Given the description of an element on the screen output the (x, y) to click on. 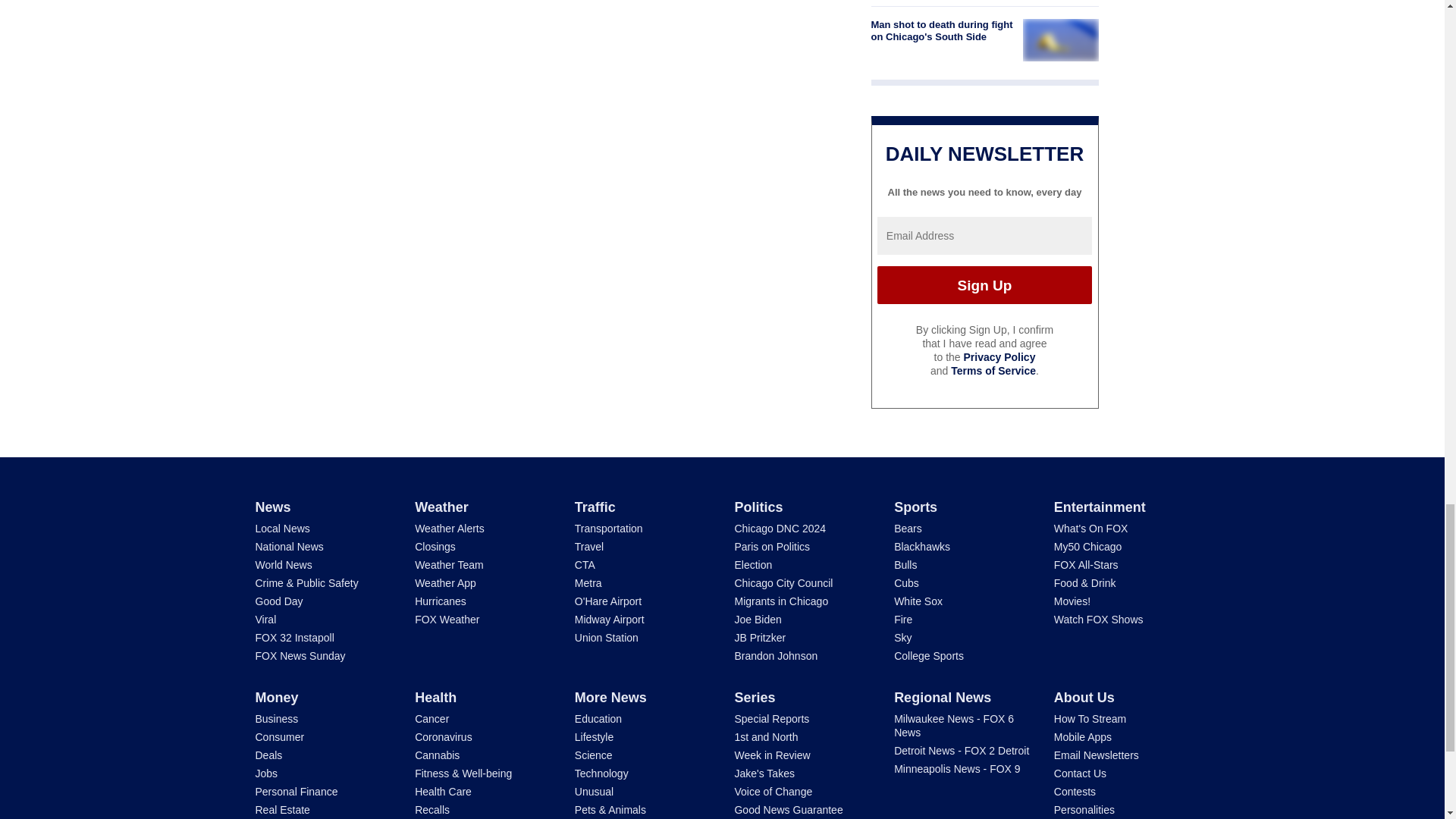
Sign Up (984, 284)
